Given the description of an element on the screen output the (x, y) to click on. 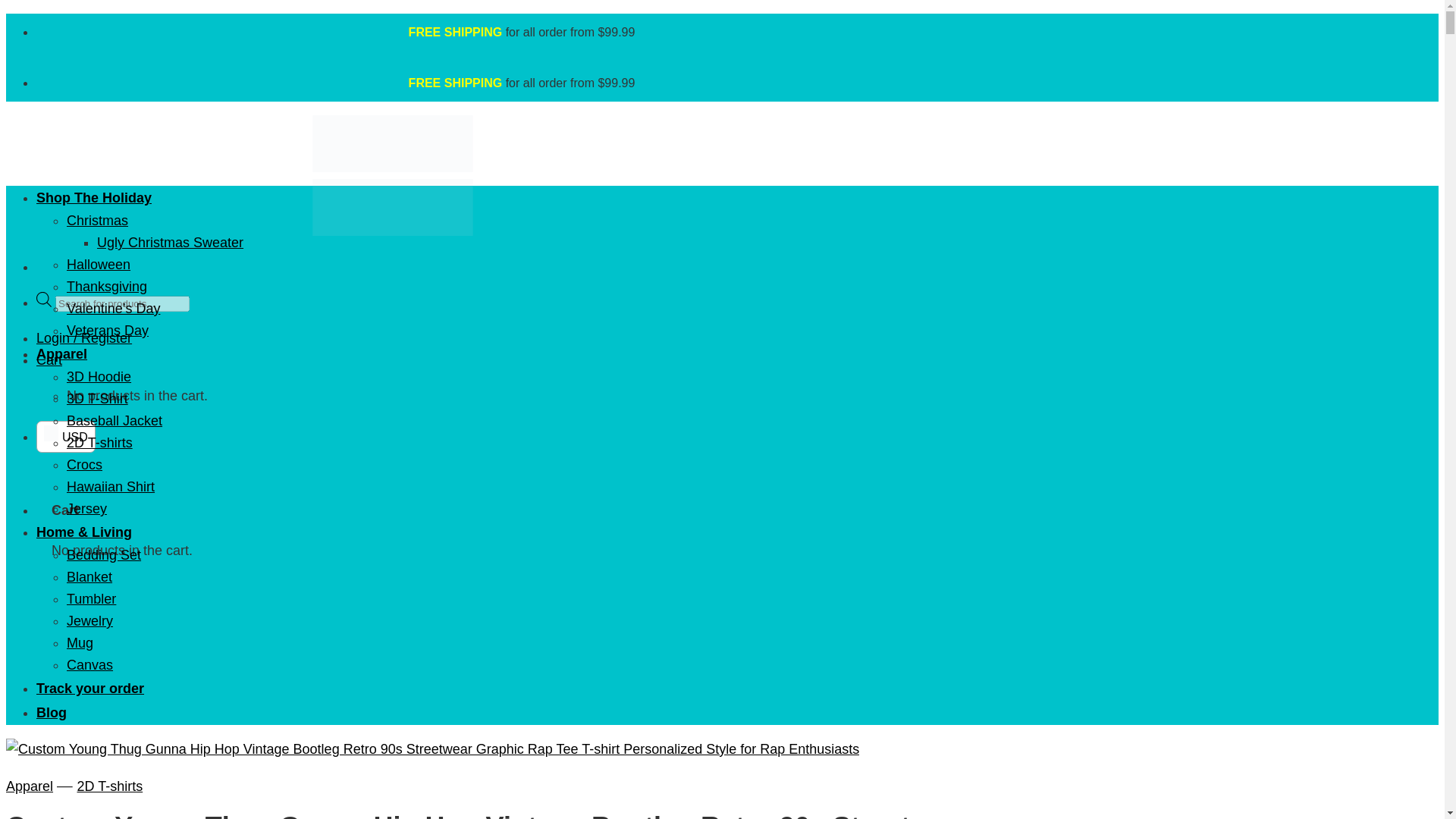
Halloween (98, 264)
Veterans Day (107, 330)
Mug (79, 642)
Best gifts your whole family (391, 199)
Cart (49, 359)
Baseball Jacket (113, 420)
Ugly Christmas Sweater (170, 242)
Canvas (89, 664)
Tumbler (91, 598)
Jersey (86, 508)
Christmas (97, 220)
2D T-shirts (109, 785)
3D T-Shirt (97, 398)
Crocs (83, 464)
